Given the description of an element on the screen output the (x, y) to click on. 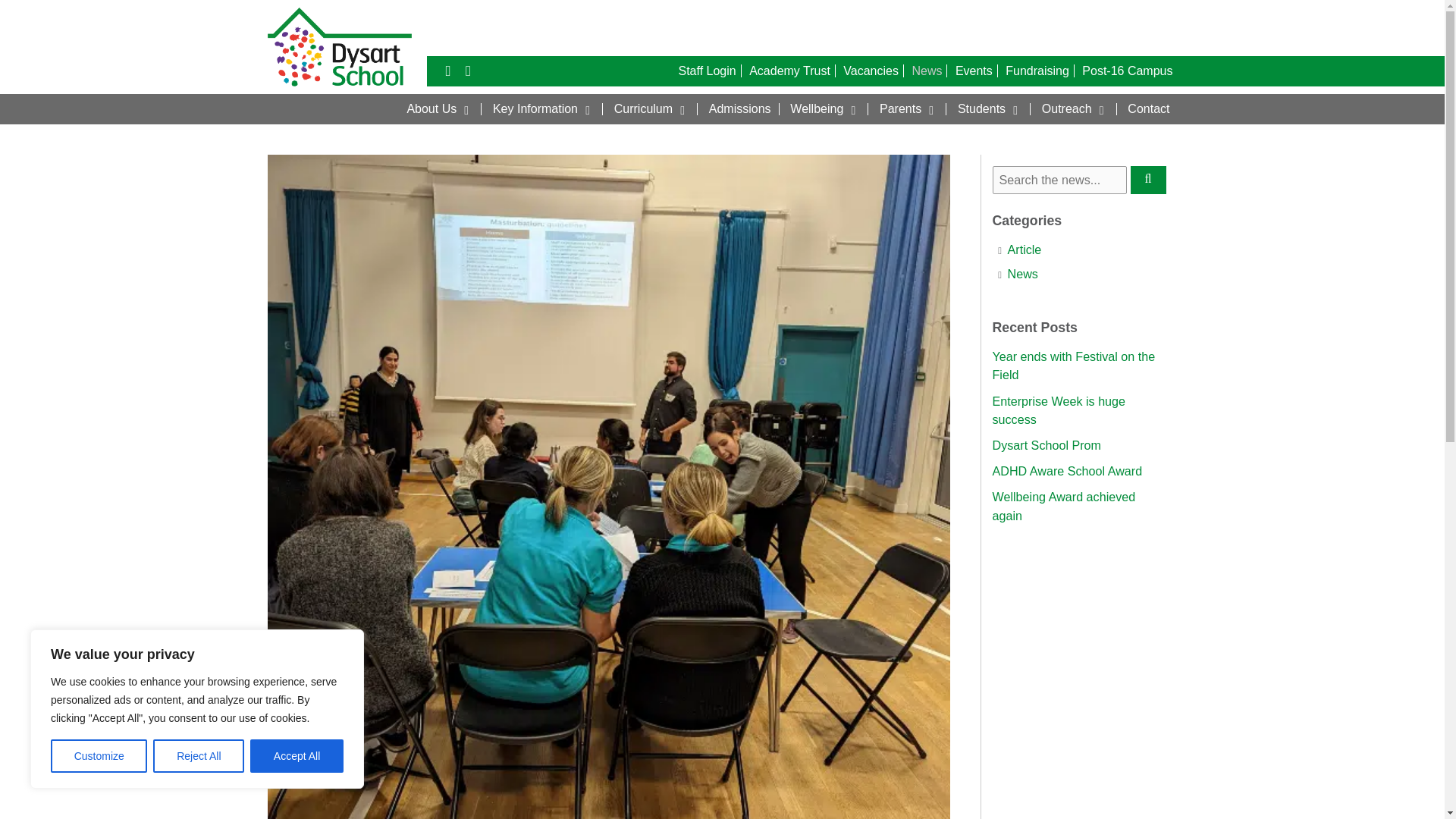
Reject All (198, 756)
Post-16 Campus (1126, 70)
Search for: (1058, 180)
About Us (439, 109)
Accept All (296, 756)
Customize (98, 756)
Contact (1147, 109)
Parents (909, 109)
Fundraising (1037, 70)
News (927, 70)
Admissions (739, 109)
Students (990, 109)
Key Information (543, 109)
Outreach (1074, 109)
Vacancies (871, 70)
